Given the description of an element on the screen output the (x, y) to click on. 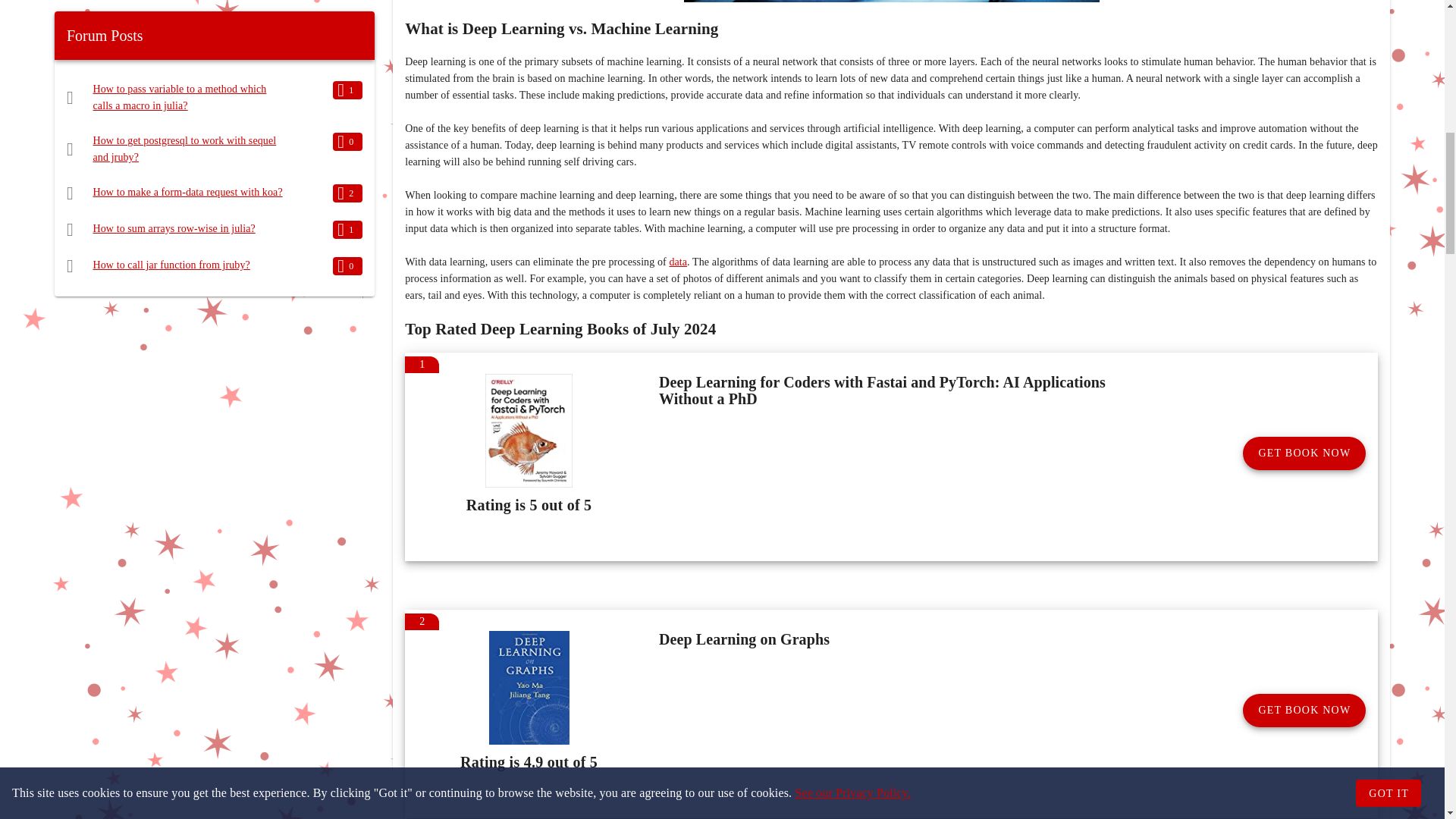
How to make a form-data request with koa? (187, 192)
How to call jar function from jruby? (171, 265)
data (677, 261)
How to sum arrays row-wise in julia? (174, 228)
GET BOOK NOW (1304, 710)
How to get postgresql to work with sequel and jruby? (184, 148)
How to call jar function from jruby? (171, 265)
How to make a form-data request with koa? (187, 192)
GET BOOK NOW (1304, 453)
How to sum arrays row-wise in julia? (174, 228)
How to get postgresql to work with sequel and jruby? (184, 148)
